Given the description of an element on the screen output the (x, y) to click on. 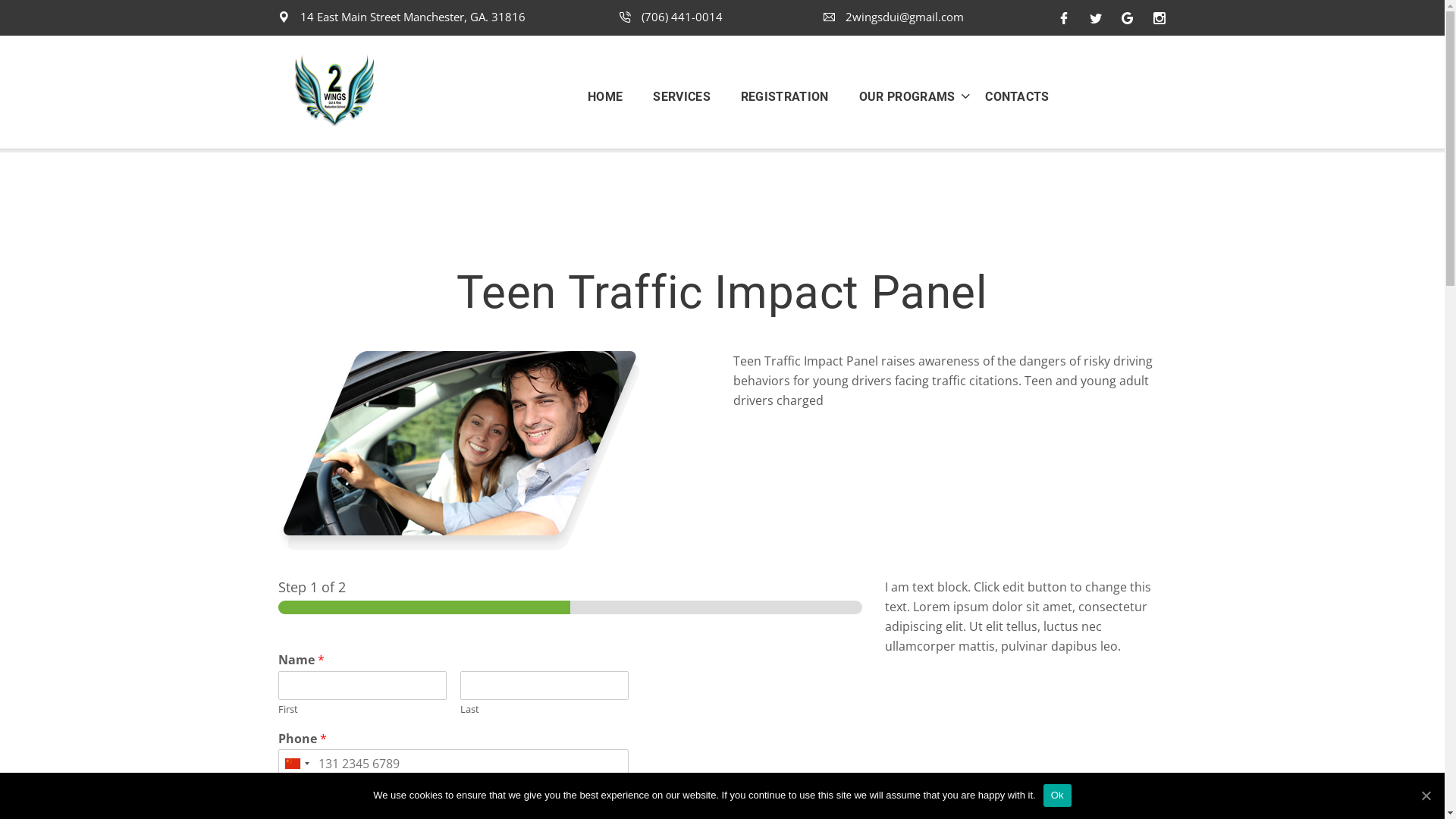
REGISTRATION Element type: text (784, 96)
OUR PROGRAMS Element type: text (901, 96)
14 East Main Street Manchester, GA. 31816 Element type: text (401, 16)
CONTACTS Element type: text (1009, 96)
2wingsdui@gmail.com Element type: text (893, 16)
SERVICES Element type: text (681, 96)
(706) 441-0014 Element type: text (670, 16)
HOME Element type: text (612, 96)
Ok Element type: text (1057, 795)
